Given the description of an element on the screen output the (x, y) to click on. 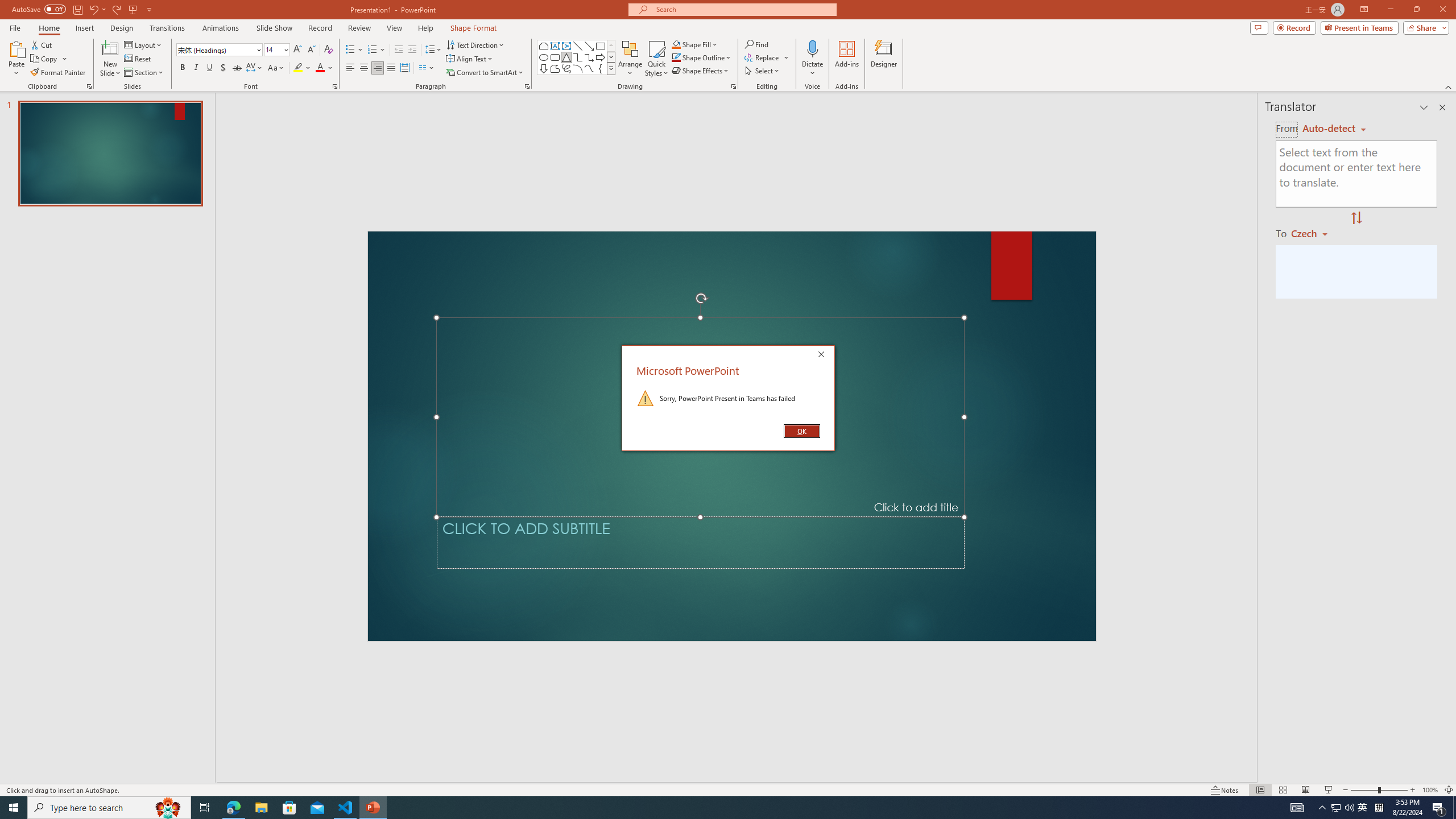
Auto-detect (1334, 128)
